Given the description of an element on the screen output the (x, y) to click on. 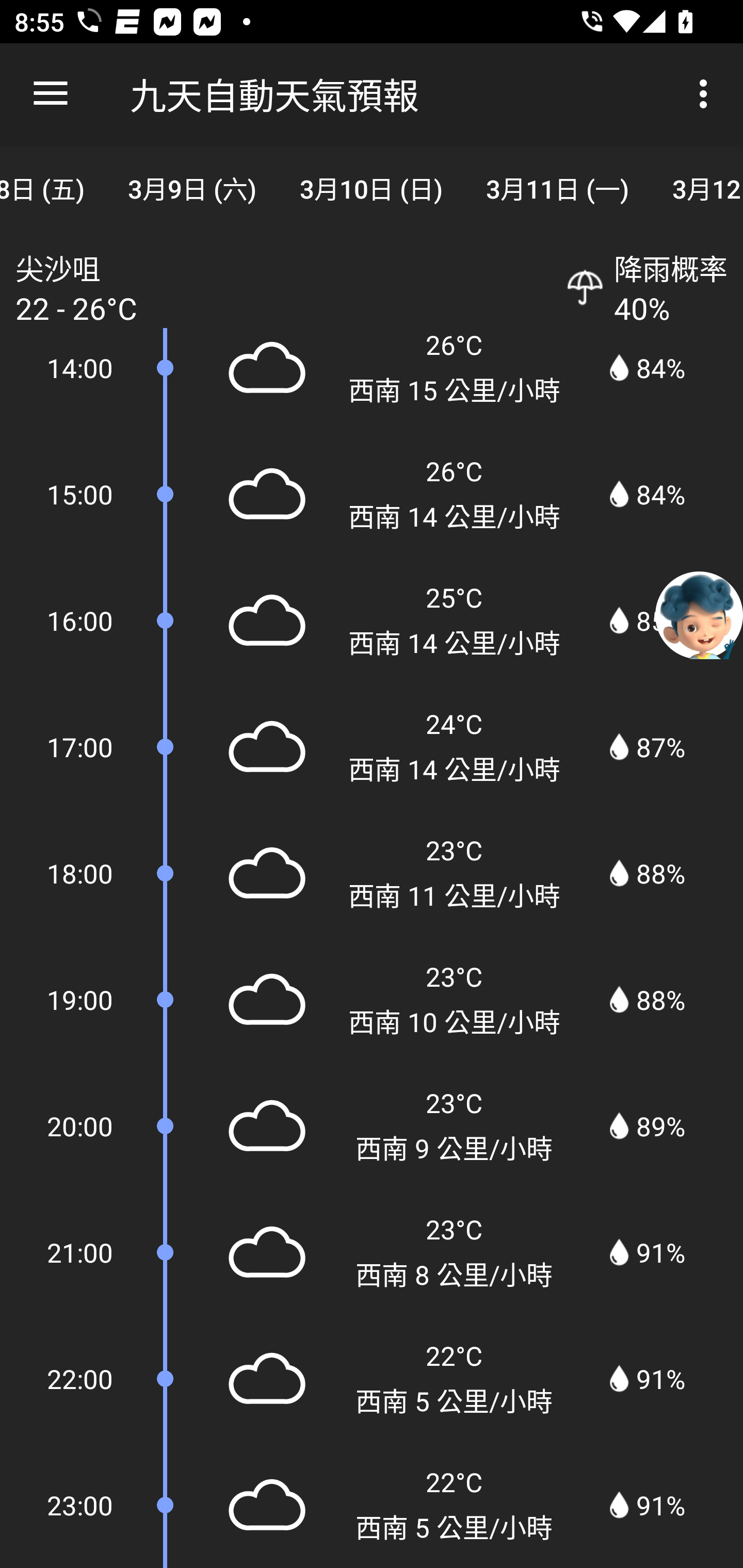
向上瀏覽 (50, 93)
更多選項 (706, 93)
3月9日 (六) (191, 187)
3月10日 (日) (370, 187)
3月11日 (一) (557, 187)
聊天機械人 (699, 614)
